Given the description of an element on the screen output the (x, y) to click on. 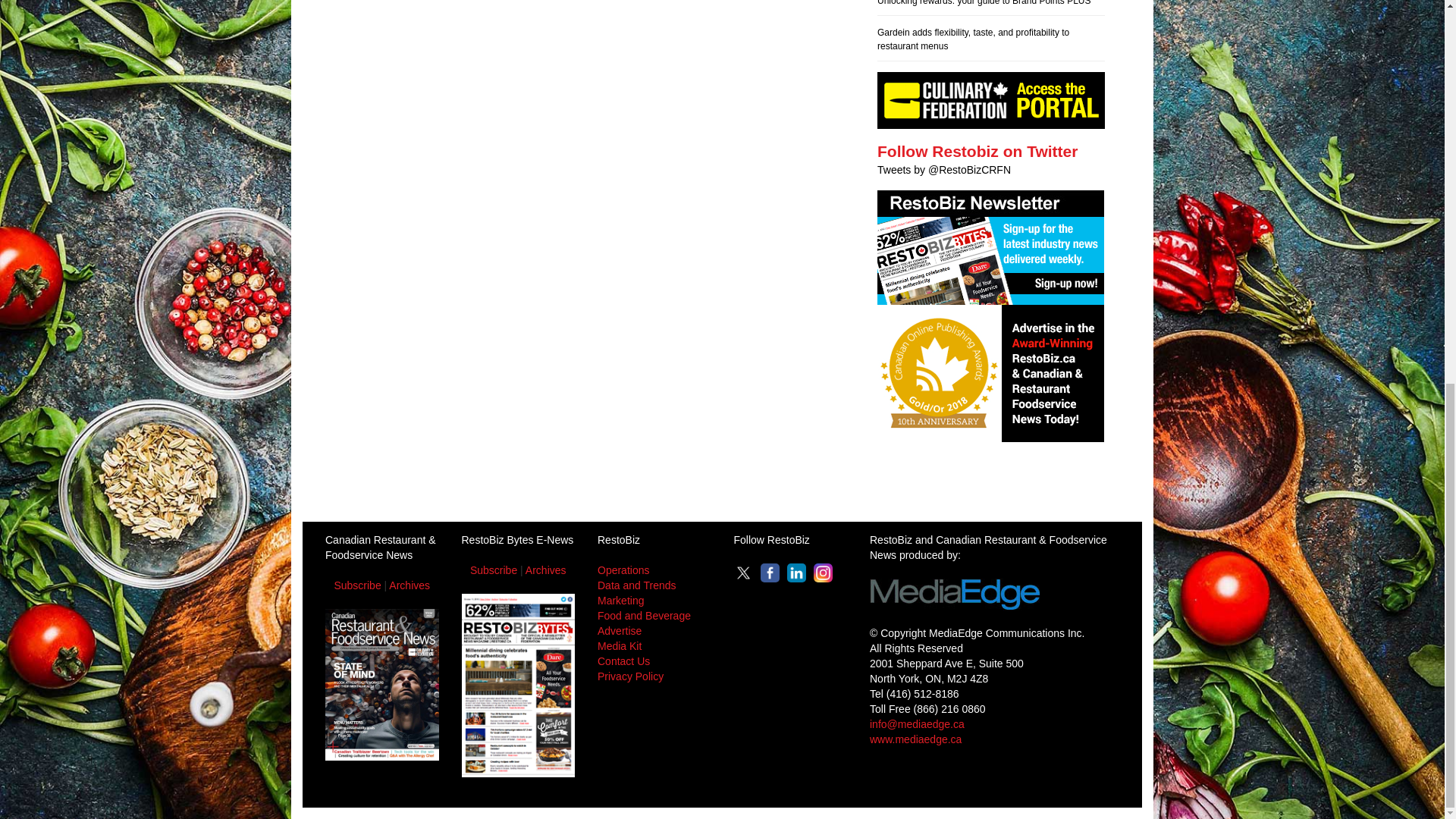
3rd party ad content (721, 476)
